Given the description of an element on the screen output the (x, y) to click on. 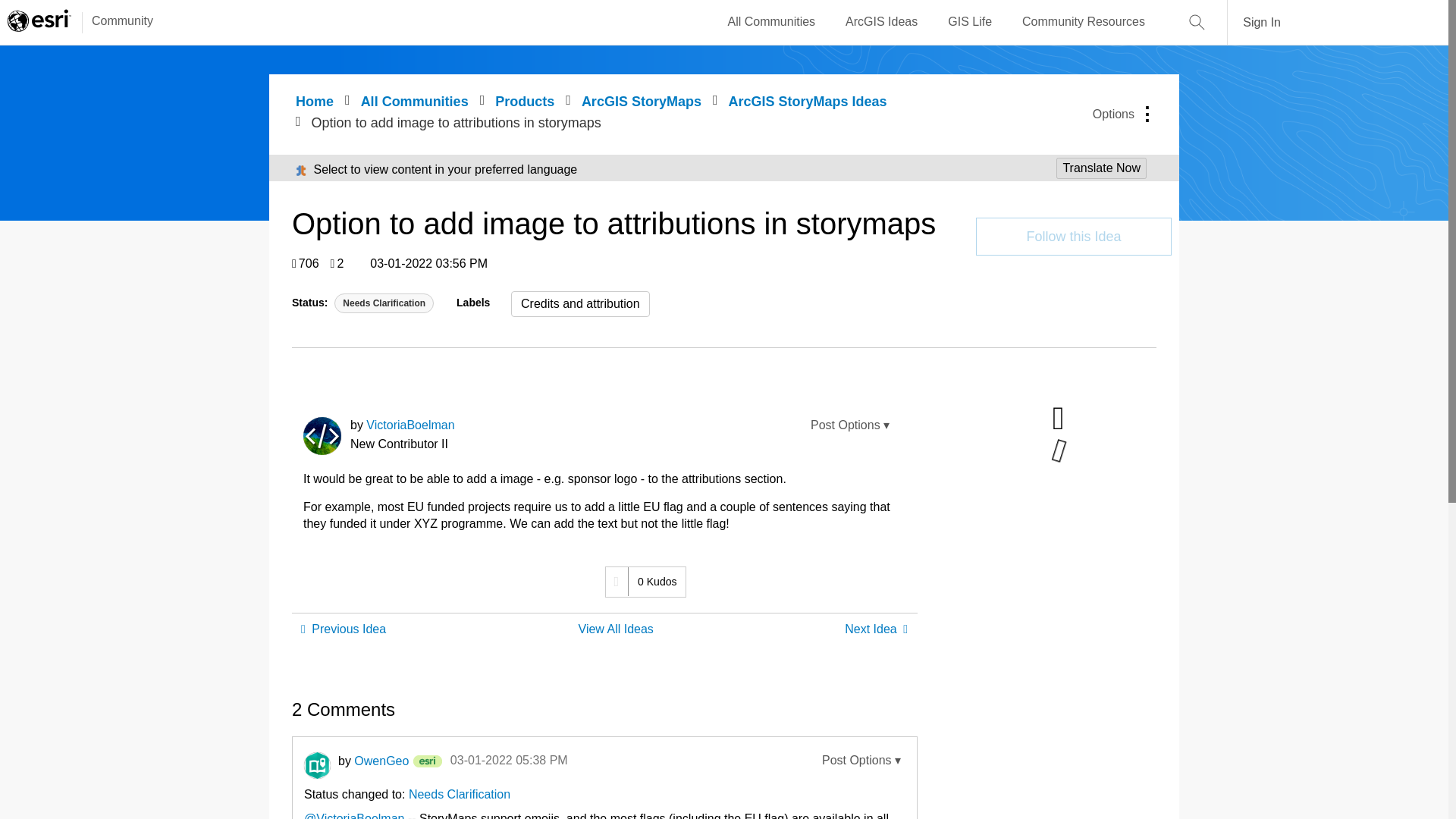
All Communities (772, 22)
Community (114, 22)
